Given the description of an element on the screen output the (x, y) to click on. 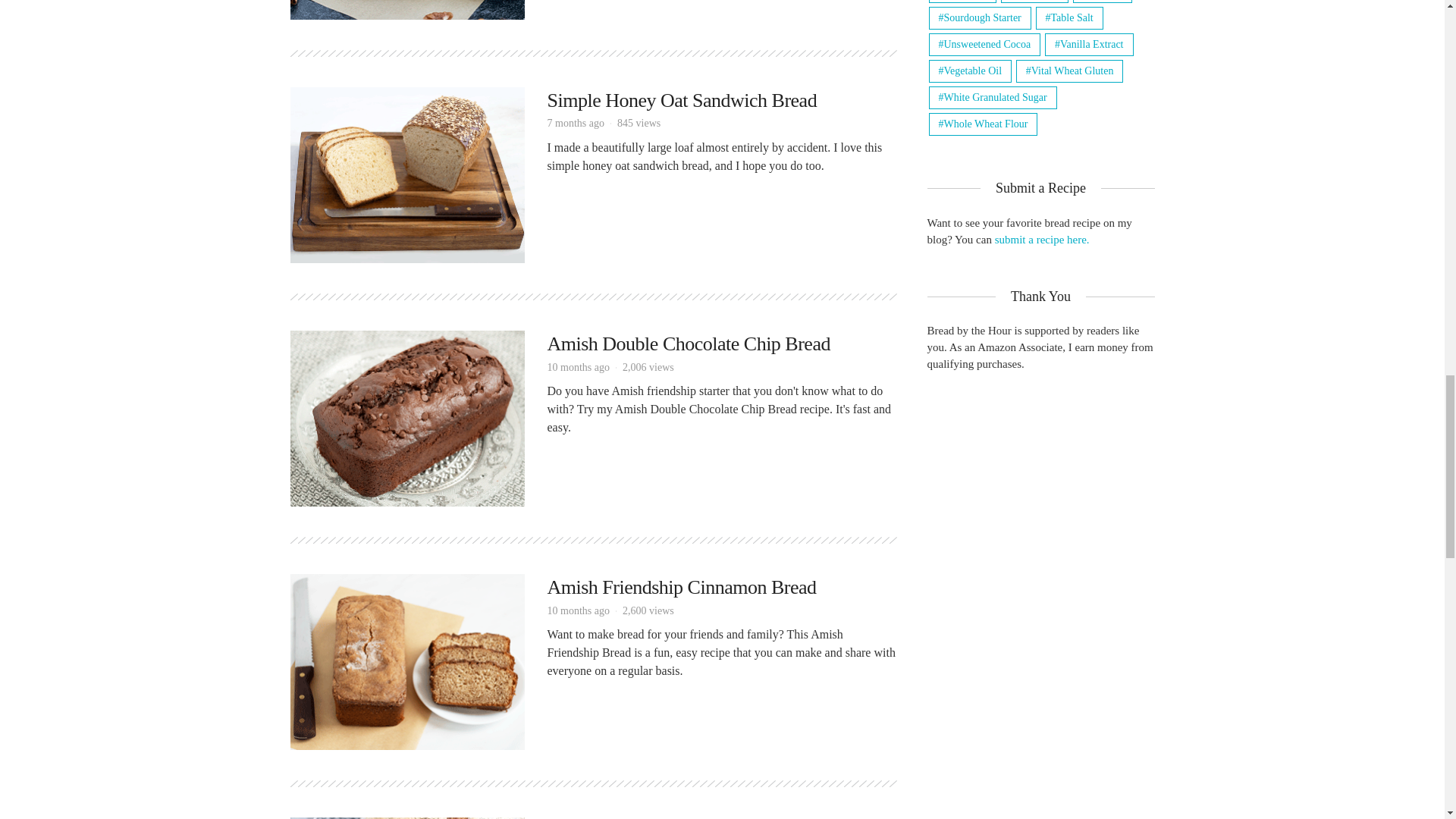
Amish Double Chocolate Chip Bread (406, 417)
Amish Double Chocolate Chip Bread (688, 343)
Amish Friendship Cinnamon Bread (681, 587)
Simple Honey Oat Sandwich Bread (681, 100)
Amish Friendship Cinnamon Bread (406, 660)
Simple Honey Oat Sandwich Bread (406, 173)
